Given the description of an element on the screen output the (x, y) to click on. 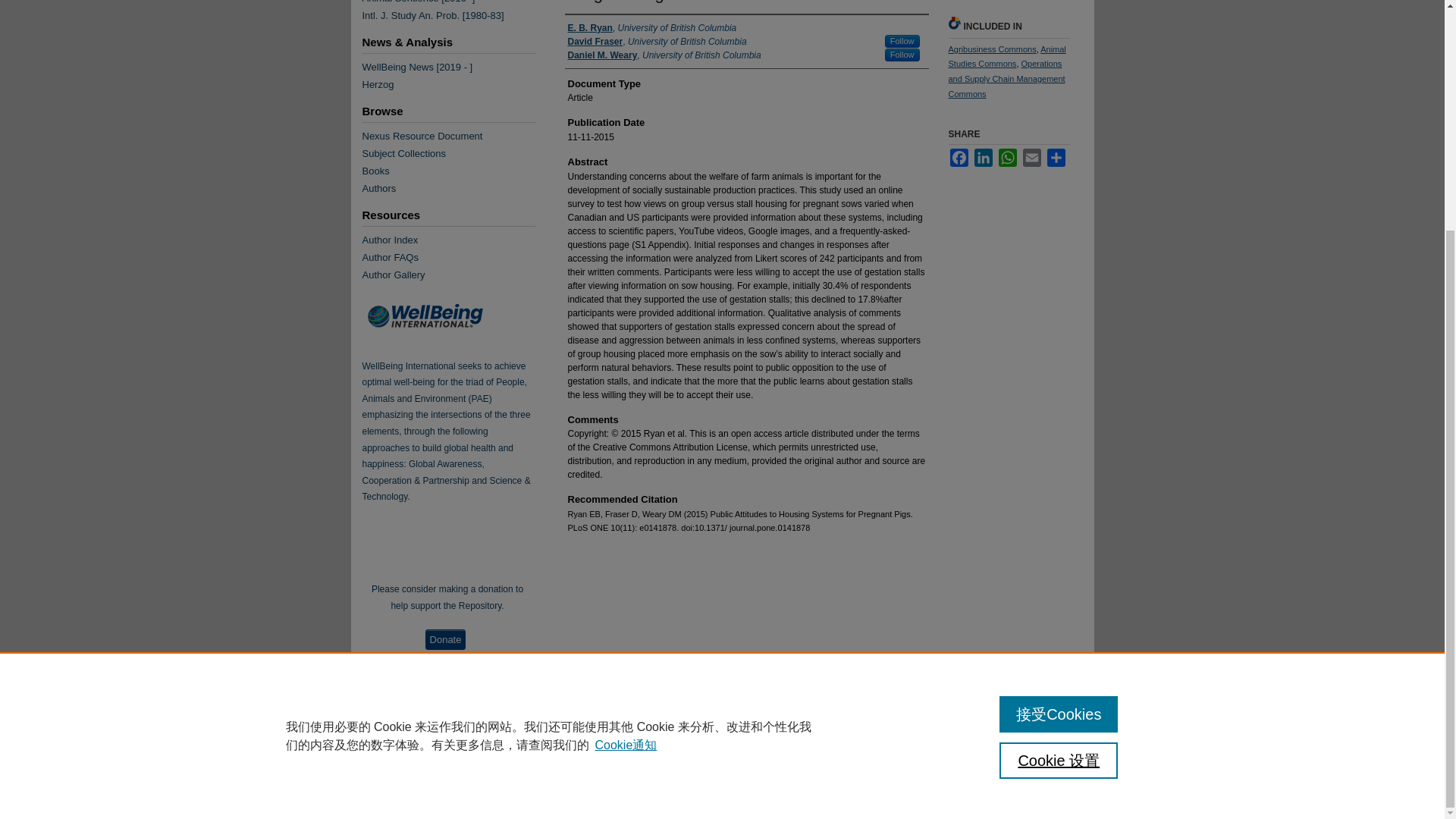
Animal Studies Commons (1006, 56)
E. B. Ryan, University of British Columbia (651, 28)
Follow Daniel M. Weary (902, 54)
Animal Studies Commons (1006, 56)
Follow (902, 41)
WhatsApp (1006, 157)
Follow (902, 54)
Follow David Fraser (902, 41)
Email (1031, 157)
Daniel M. Weary, University of British Columbia (663, 55)
Facebook (958, 157)
Public Attitudes to Housing Systems for Pregnant Pigs (713, 1)
Agribusiness Commons (991, 49)
Operations and Supply Chain Management Commons (1005, 78)
LinkedIn (982, 157)
